Given the description of an element on the screen output the (x, y) to click on. 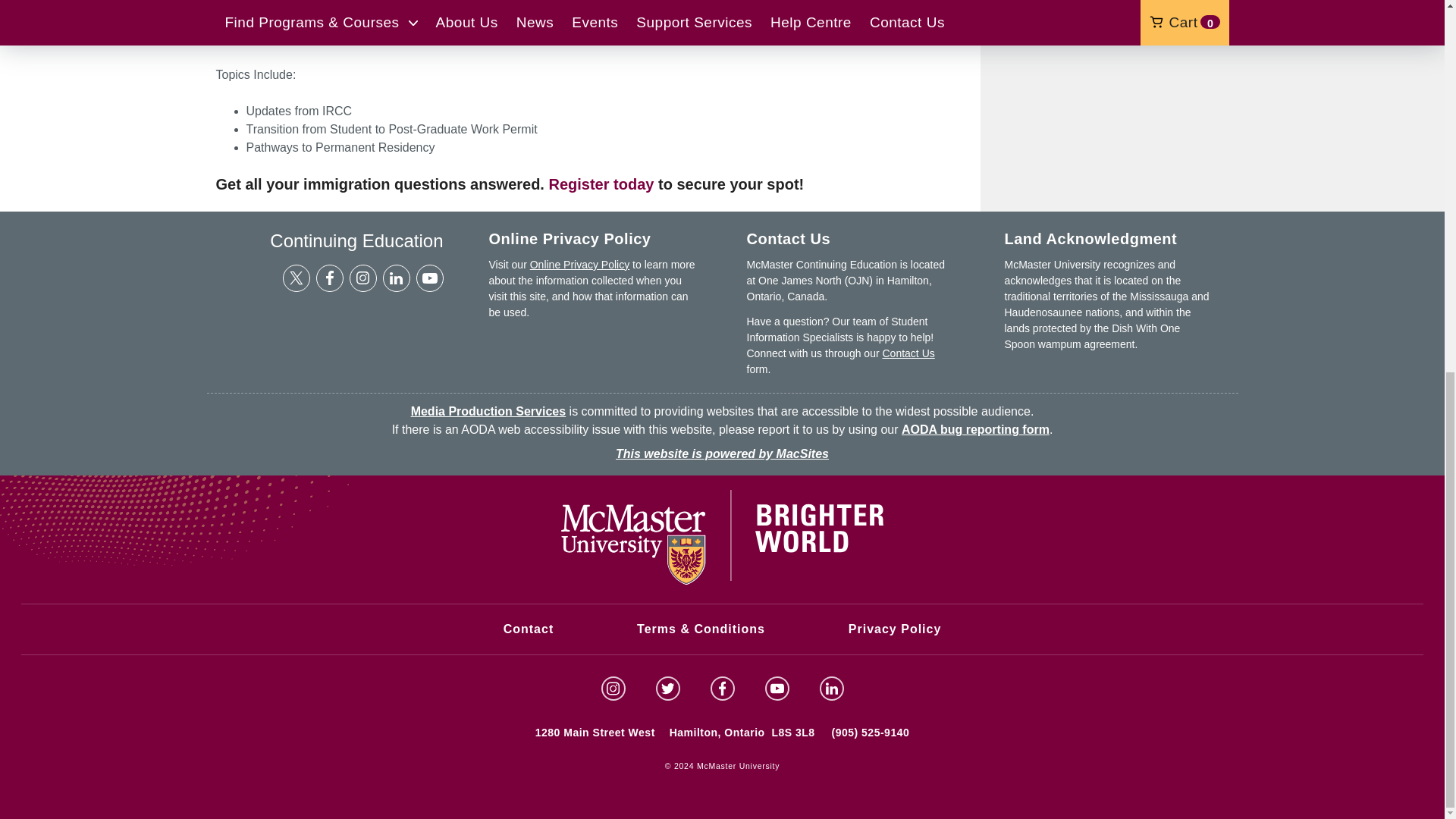
Devant (646, 19)
Register today (600, 184)
Twitter (295, 277)
Continuing Education (328, 241)
Instagram (362, 277)
Facebook (328, 277)
